Given the description of an element on the screen output the (x, y) to click on. 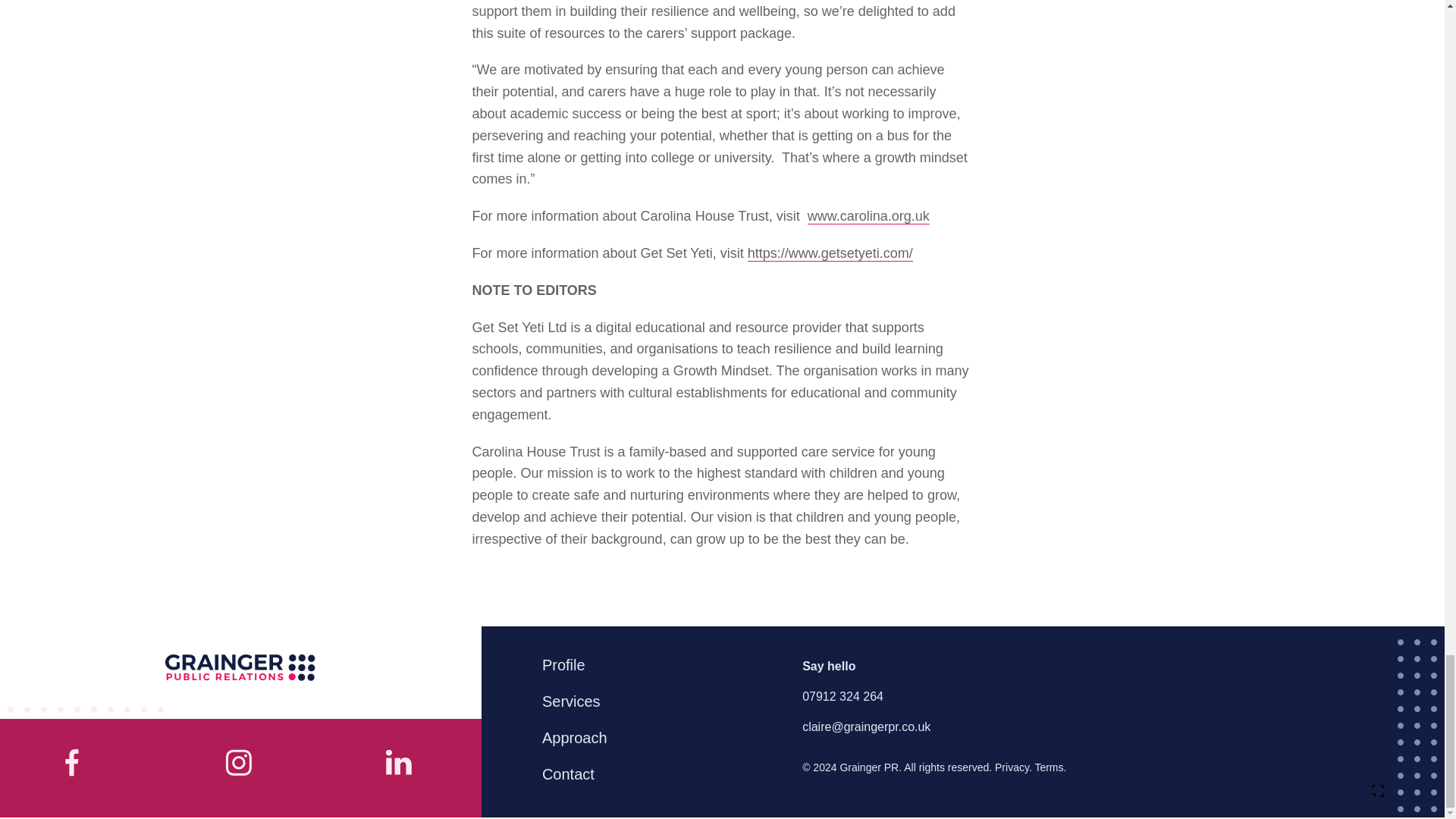
07912 324 264 (842, 696)
Privacy (1011, 767)
Grainger PR (239, 668)
Profile (563, 664)
Instagram (240, 768)
Return to Grainger PR's homepage (239, 668)
Terms (1047, 767)
Instagram (400, 768)
www.carolina.org.uk (869, 216)
Approach (574, 737)
Services (571, 701)
Contact (568, 774)
Facebook (80, 768)
